Given the description of an element on the screen output the (x, y) to click on. 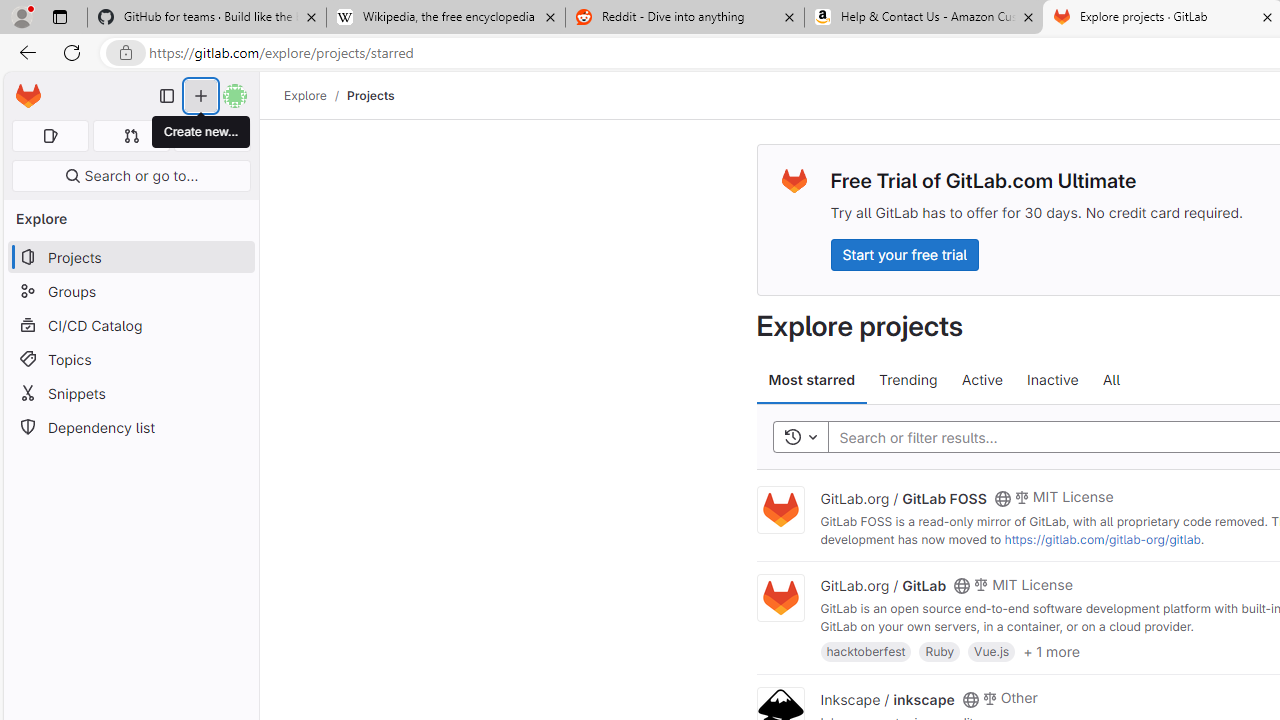
Homepage (27, 96)
Primary navigation sidebar (167, 96)
hacktoberfest (866, 650)
Explore/ (316, 95)
GitLab.org / GitLab FOSS (903, 497)
Dependency list (130, 427)
